Given the description of an element on the screen output the (x, y) to click on. 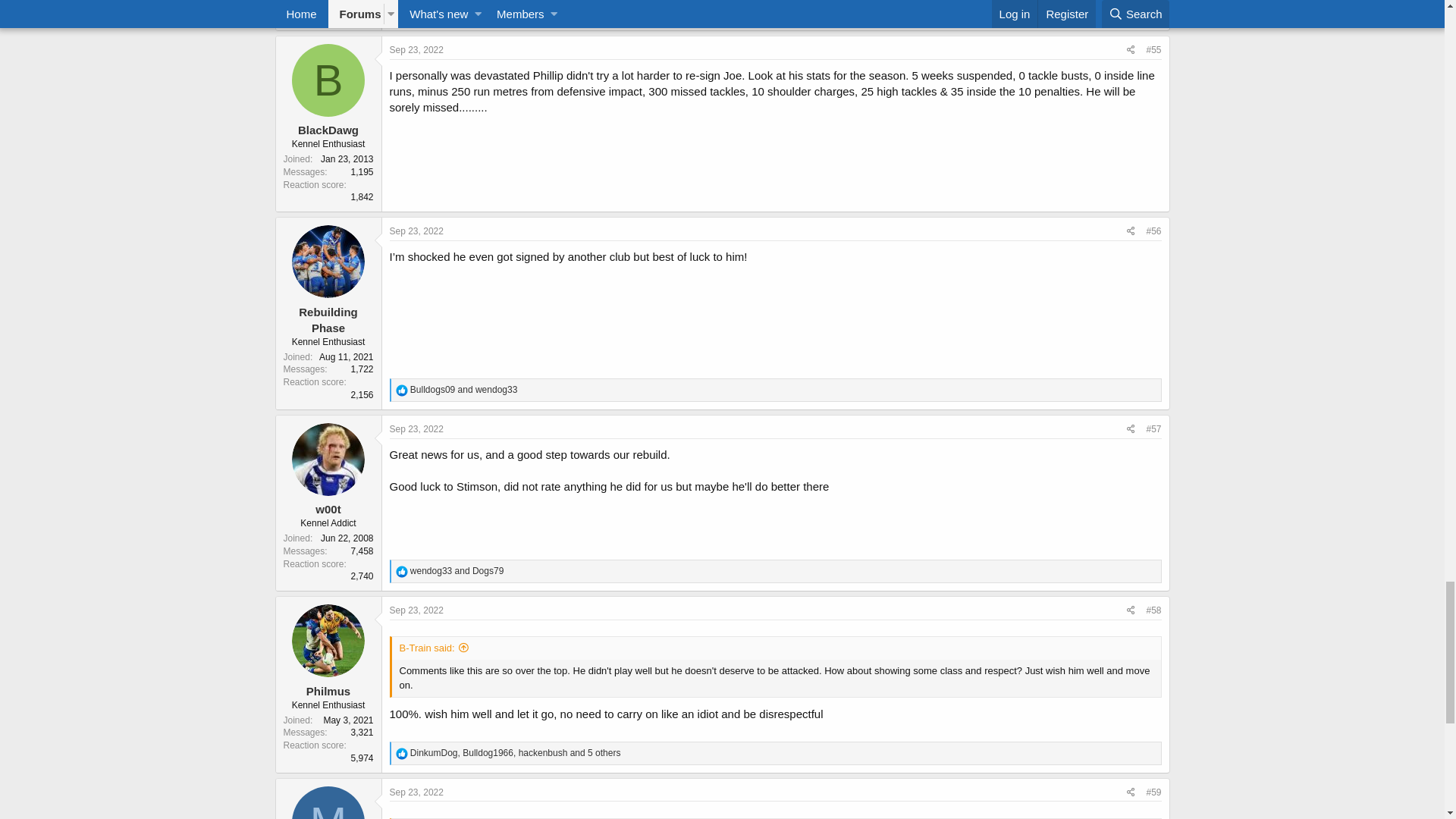
Rugby League Element type: text (396, 222)
Next Element type: text (413, 295)
Trafford10 Element type: text (327, 406)
Search forums Element type: text (364, 195)
Thread starter Element type: hover (278, 269)
Dawain87 Element type: text (327, 787)
Total Fool Element type: text (306, 269)
Sep 22, 2022 Element type: text (416, 326)
Forums Element type: text (332, 222)
2 Element type: text (344, 295)
Sep 22, 2022 Element type: text (416, 525)
Like Element type: hover (401, 668)
R Element type: text (327, 555)
GA45, Jackson_1994 and WillieMasonFan Element type: text (506, 667)
4 Element type: text (380, 295)
Home Element type: text (287, 222)
#41 Element type: text (1153, 326)
Sep 22, 2022 Element type: text (416, 706)
Bulldogs Discussion Element type: text (493, 222)
New posts Element type: text (297, 195)
#42 Element type: text (1153, 525)
1 Element type: text (326, 295)
#43 Element type: text (1153, 706)
3 Element type: text (362, 295)
Sep 22, 2022 Element type: text (378, 269)
Prev Element type: text (293, 295)
Start date Element type: hover (341, 269)
Reecek89 Element type: text (327, 605)
Haha Element type: hover (412, 668)
